Given the description of an element on the screen output the (x, y) to click on. 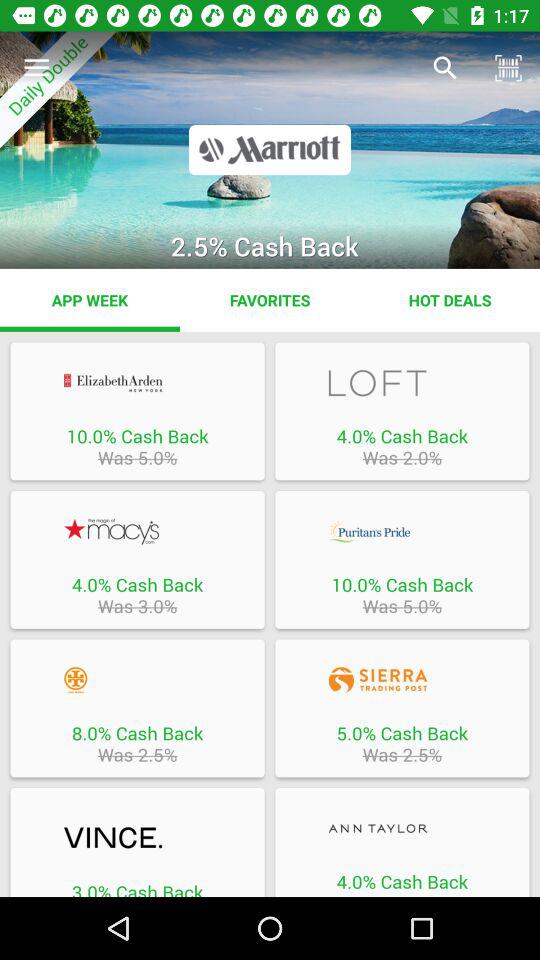
macy 's cash back offer (137, 531)
